Given the description of an element on the screen output the (x, y) to click on. 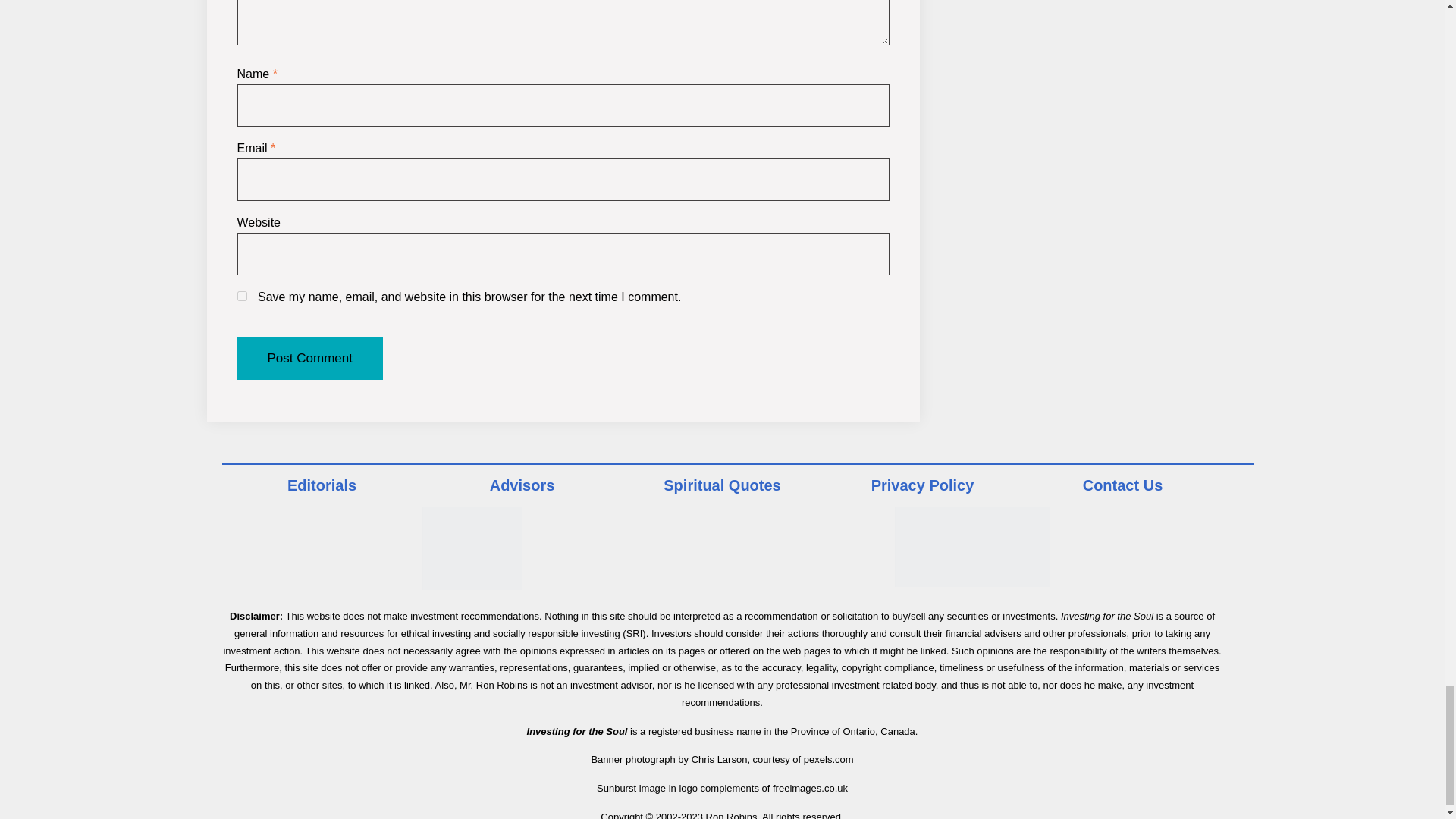
Post Comment (308, 358)
yes (240, 296)
